Given the description of an element on the screen output the (x, y) to click on. 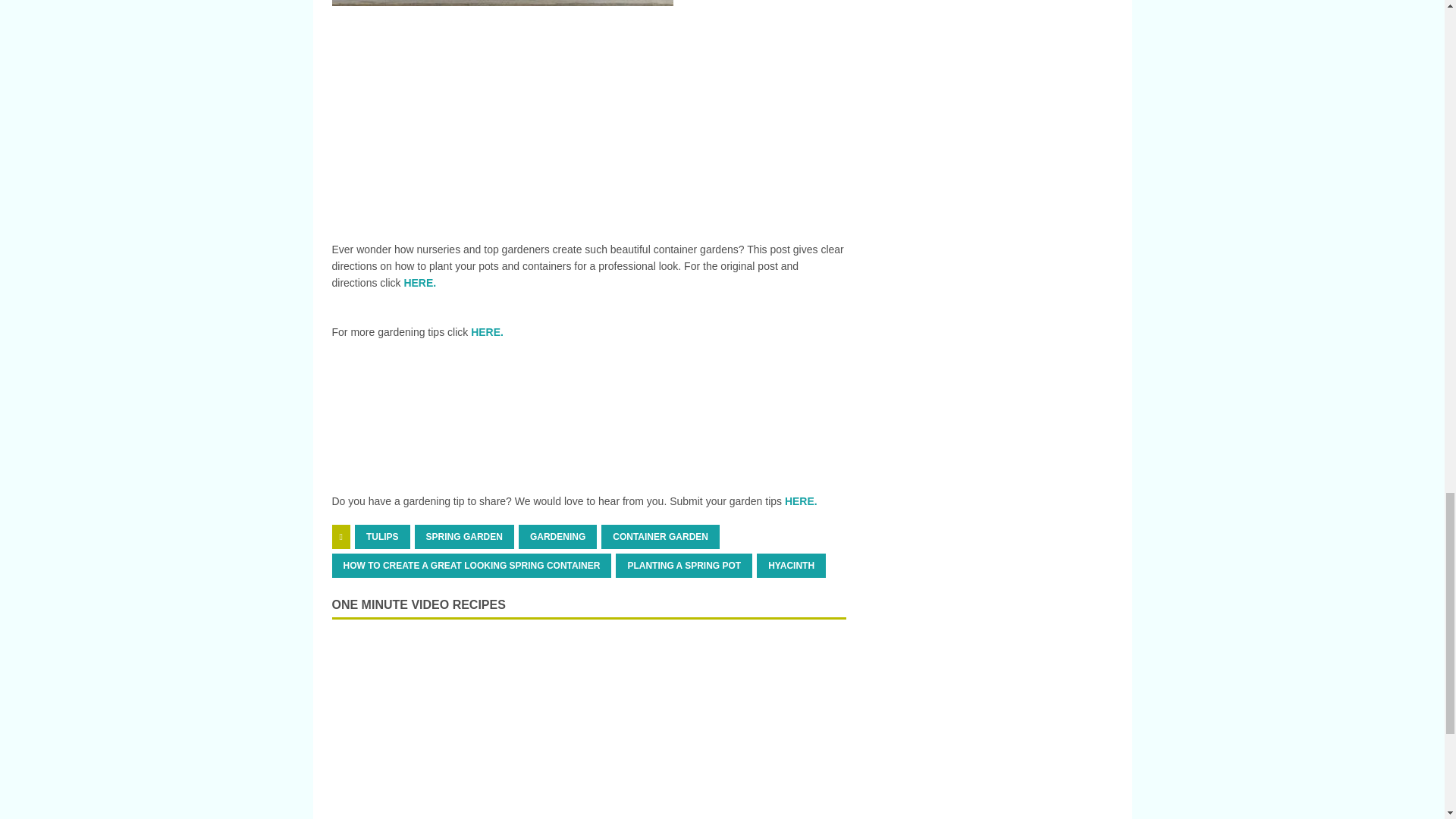
HOW TO CREATE A GREAT LOOKING SPRING CONTAINER (471, 565)
HYACINTH (791, 565)
TULIPS (382, 536)
HERE. (419, 282)
GARDENING (557, 536)
YouTube player (588, 726)
HERE. (486, 331)
HERE. (798, 500)
PLANTING A SPRING POT (683, 565)
SPRING GARDEN (463, 536)
